Given the description of an element on the screen output the (x, y) to click on. 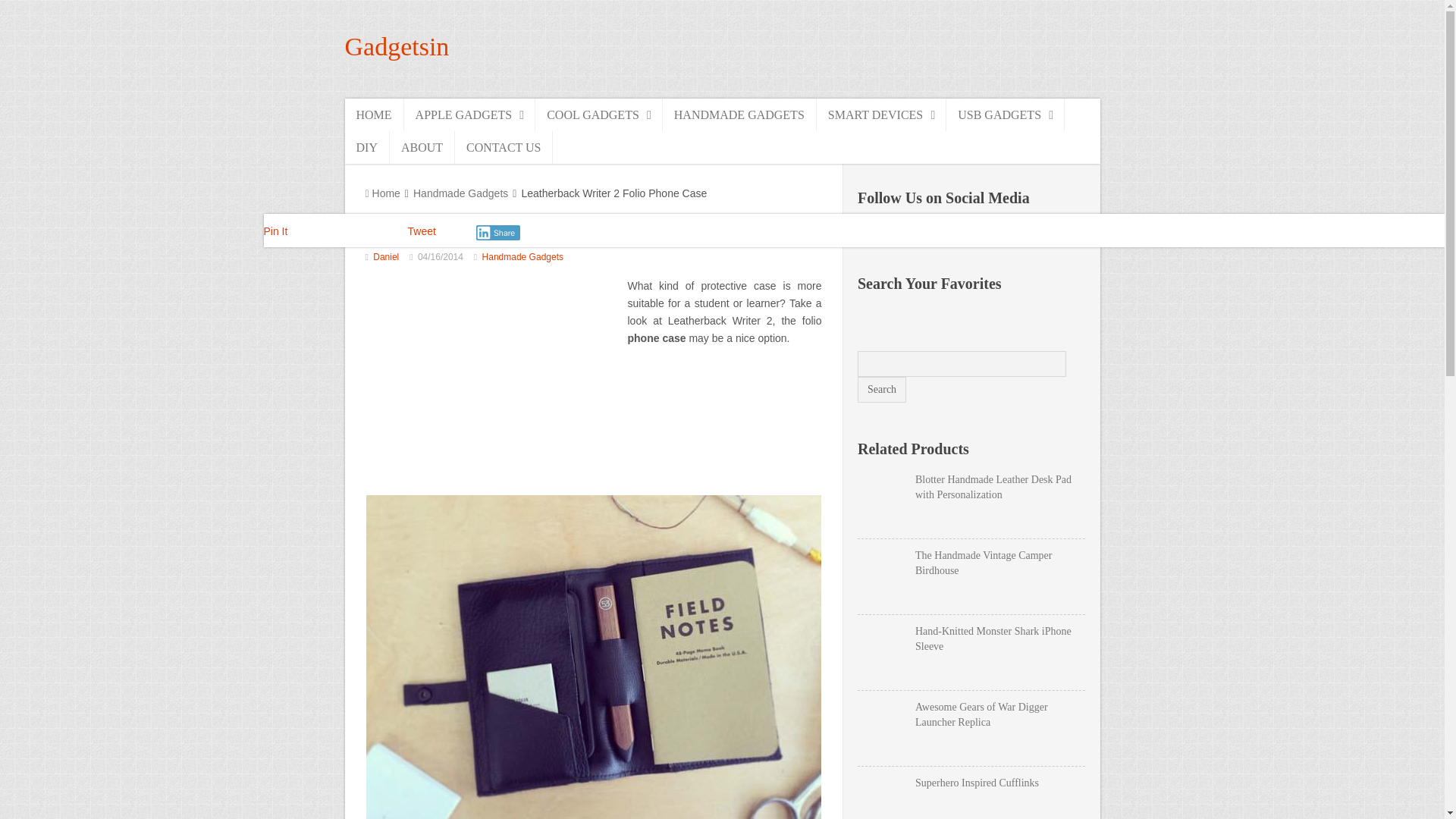
HANDMADE GADGETS (739, 114)
APPLE GADGETS (469, 114)
ABOUT (422, 147)
Daniel (385, 256)
View all posts in Handmade Gadgets (522, 256)
Blotter Handmade Leather Desk Pad with Personalization (970, 487)
Gadgetsin (395, 46)
Advertisement (492, 383)
COOL GADGETS (598, 114)
Pin It (275, 231)
Twitter (968, 233)
Email (1001, 233)
Facebook (870, 233)
Handmade Gadgets (460, 193)
Home (382, 193)
